Given the description of an element on the screen output the (x, y) to click on. 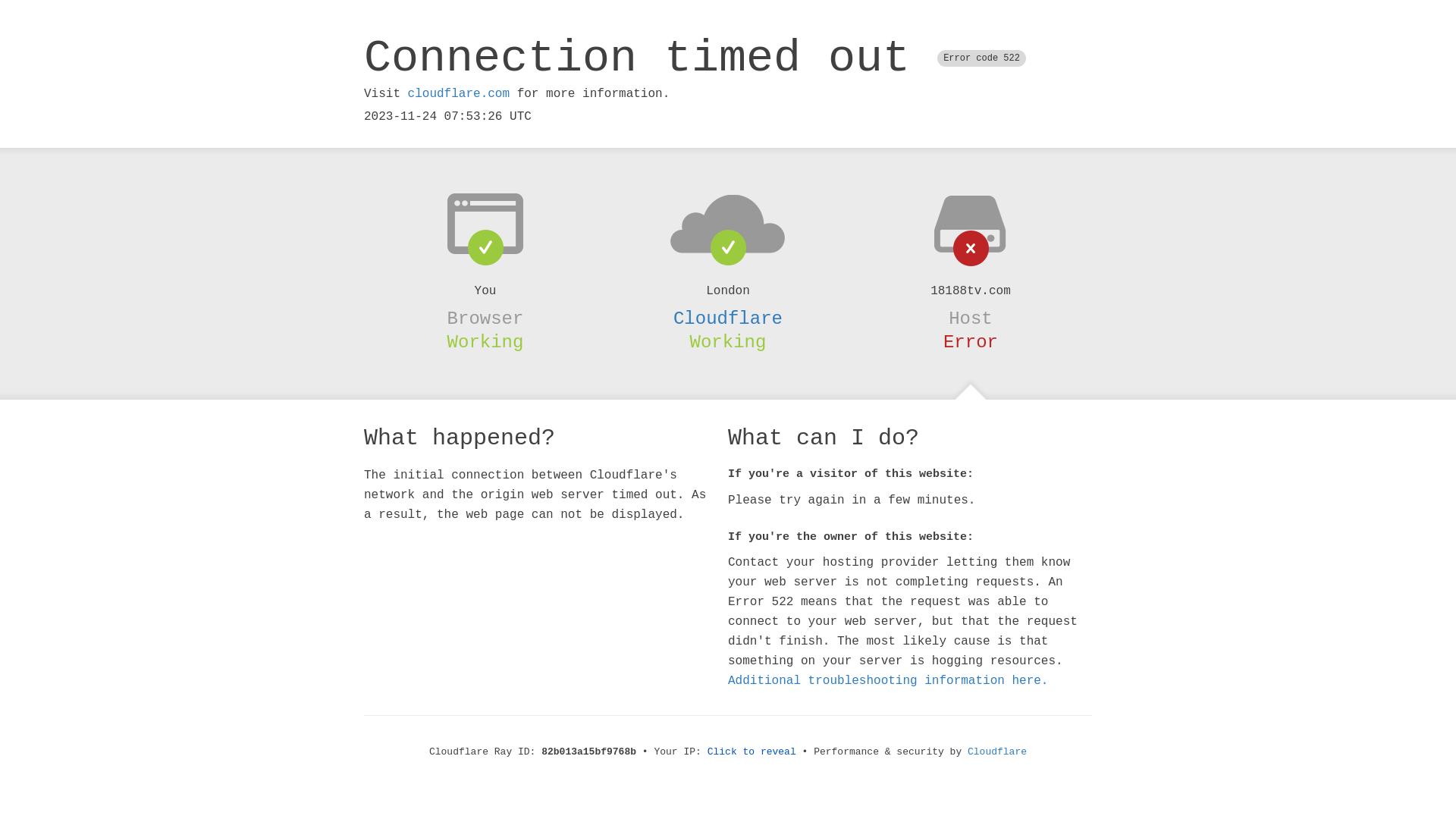
Click to reveal Element type: text (751, 751)
Cloudflare Element type: text (996, 751)
cloudflare.com Element type: text (458, 93)
Cloudflare Element type: text (727, 318)
Additional troubleshooting information here. Element type: text (888, 680)
